Given the description of an element on the screen output the (x, y) to click on. 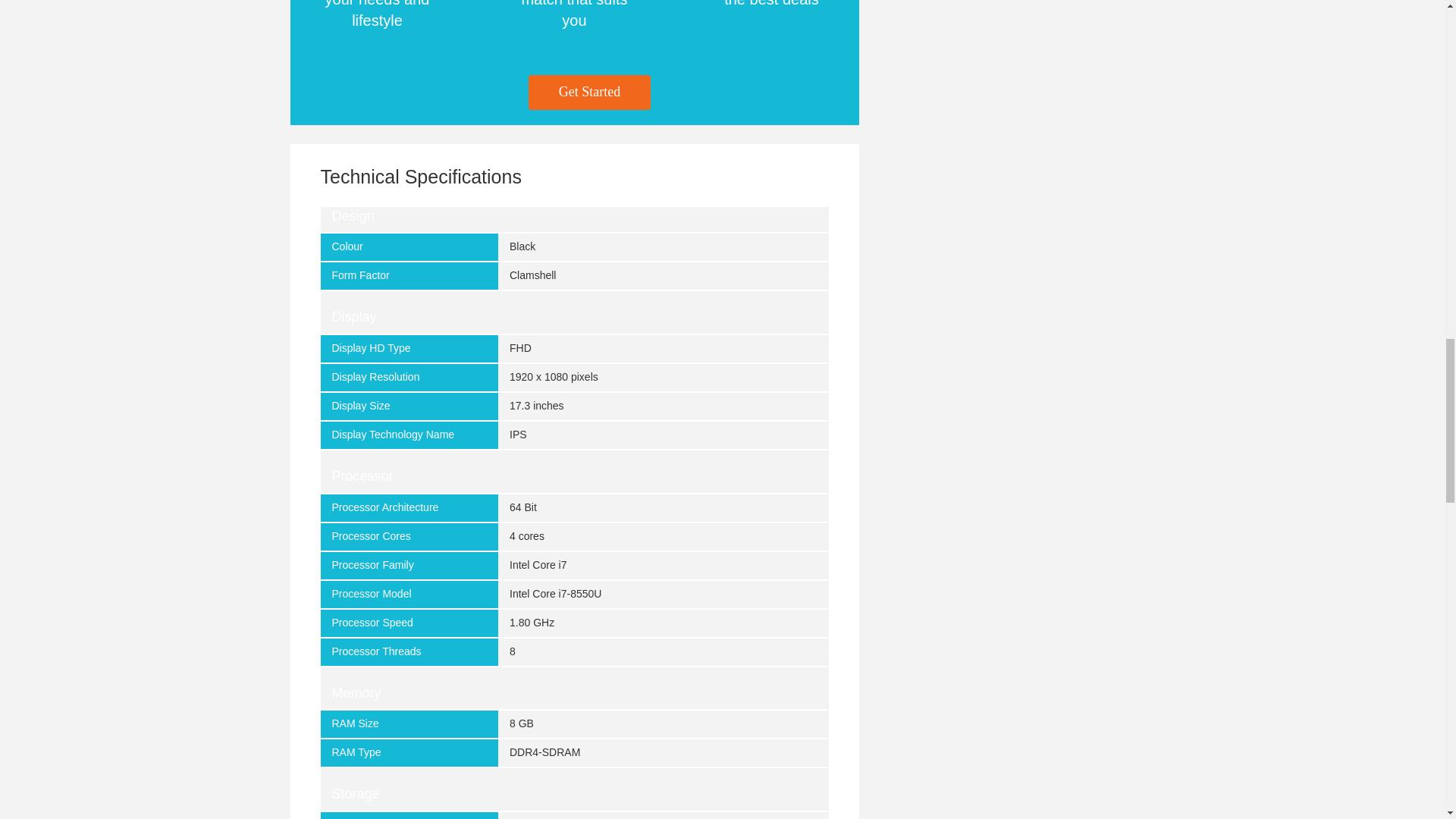
Get Started (589, 92)
